Given the description of an element on the screen output the (x, y) to click on. 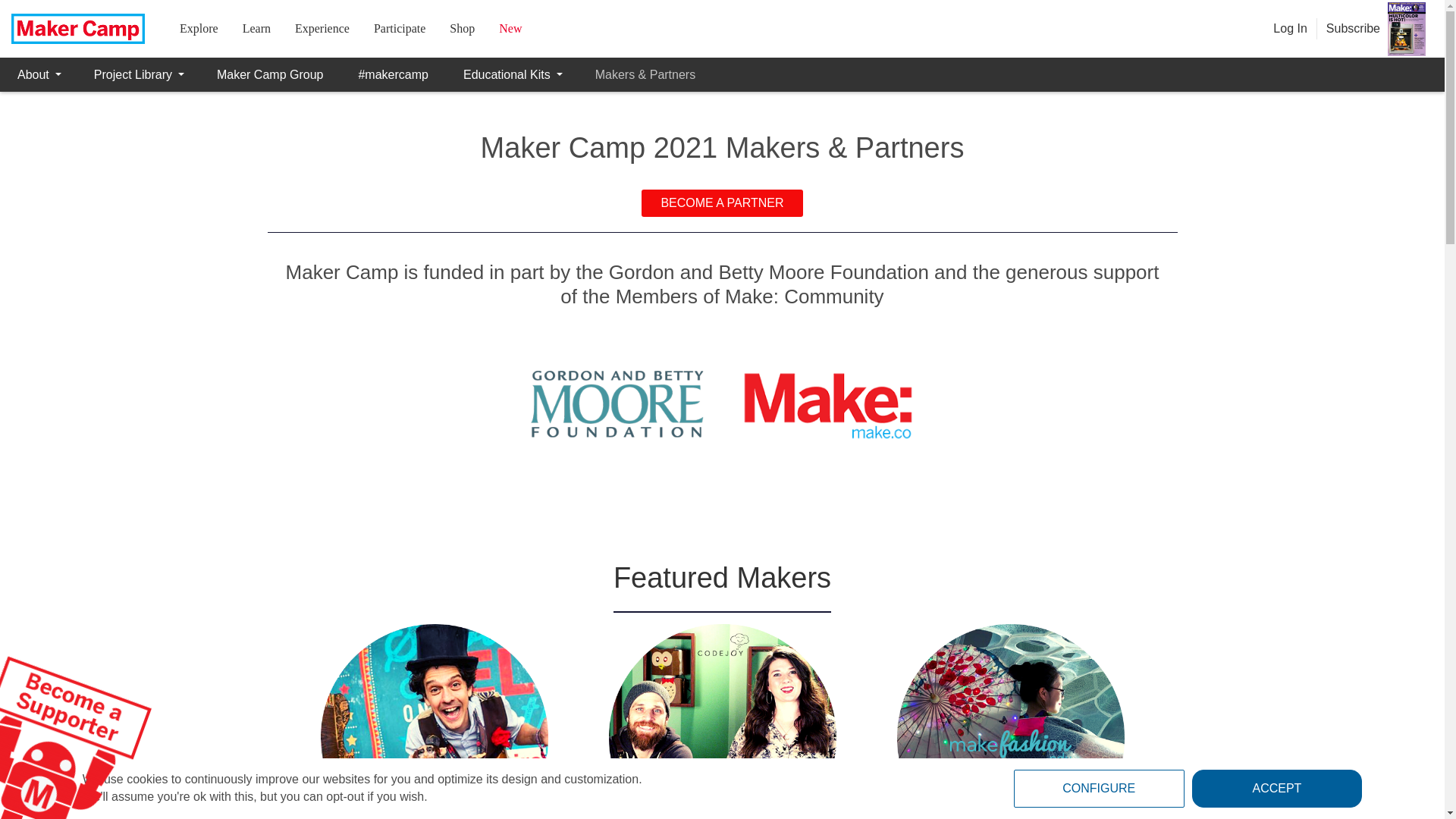
Maker Camp Group (269, 74)
Experience (322, 28)
Log In (1289, 28)
Educational Kits (511, 74)
Project Library (138, 74)
Learn (256, 28)
About (38, 74)
Explore (198, 28)
